Given the description of an element on the screen output the (x, y) to click on. 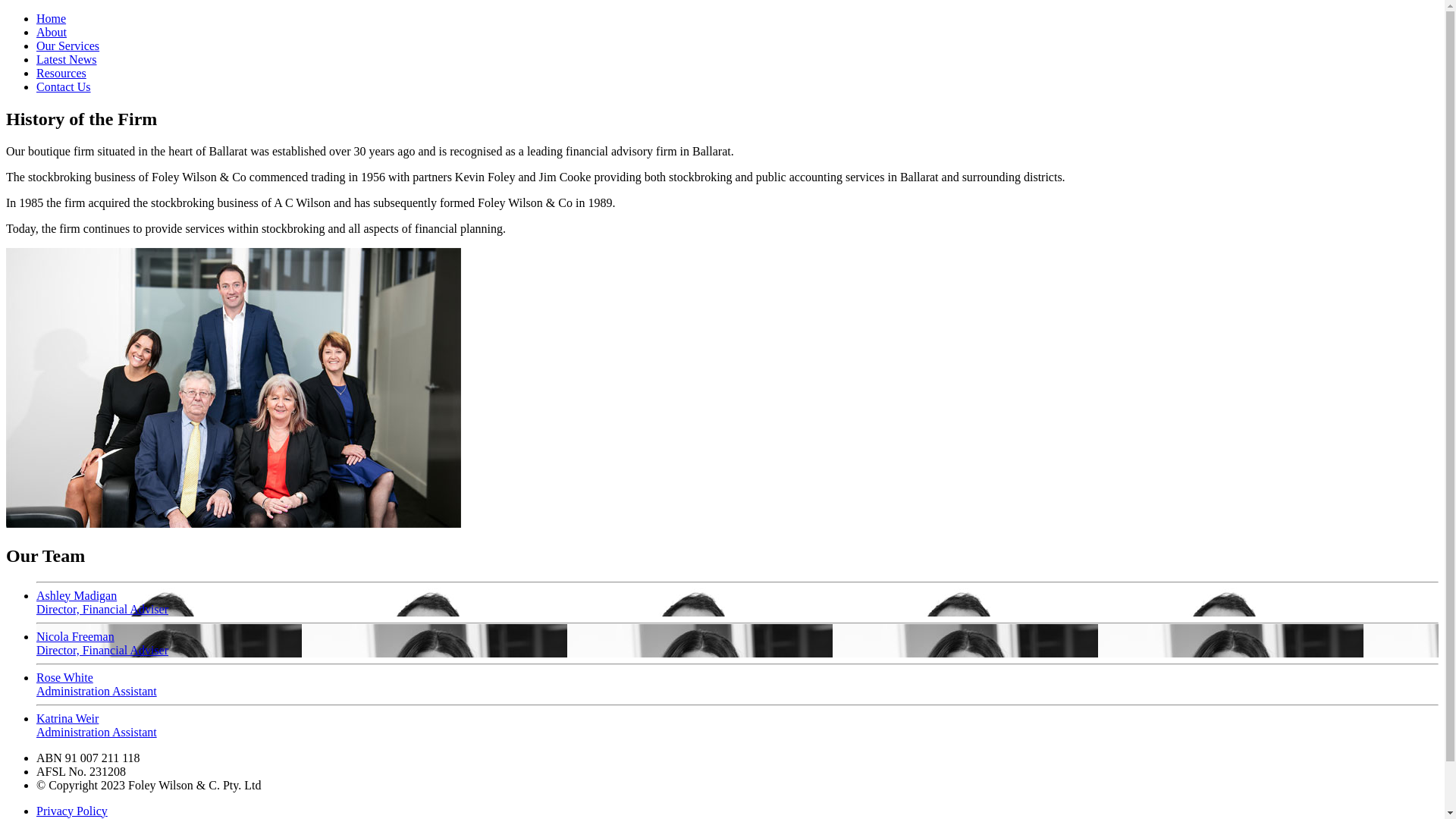
Latest News Element type: text (66, 59)
Resources Element type: text (61, 72)
Contact Us Element type: text (63, 86)
Katrina Weir
Administration Assistant Element type: text (737, 721)
Our Services Element type: text (67, 45)
Home Element type: text (50, 18)
Ashley Madigan
Director, Financial Adviser Element type: text (737, 598)
Rose White
Administration Assistant Element type: text (737, 680)
Nicola Freeman
Director, Financial Adviser Element type: text (737, 639)
About Element type: text (51, 31)
Privacy Policy Element type: text (71, 810)
